Given the description of an element on the screen output the (x, y) to click on. 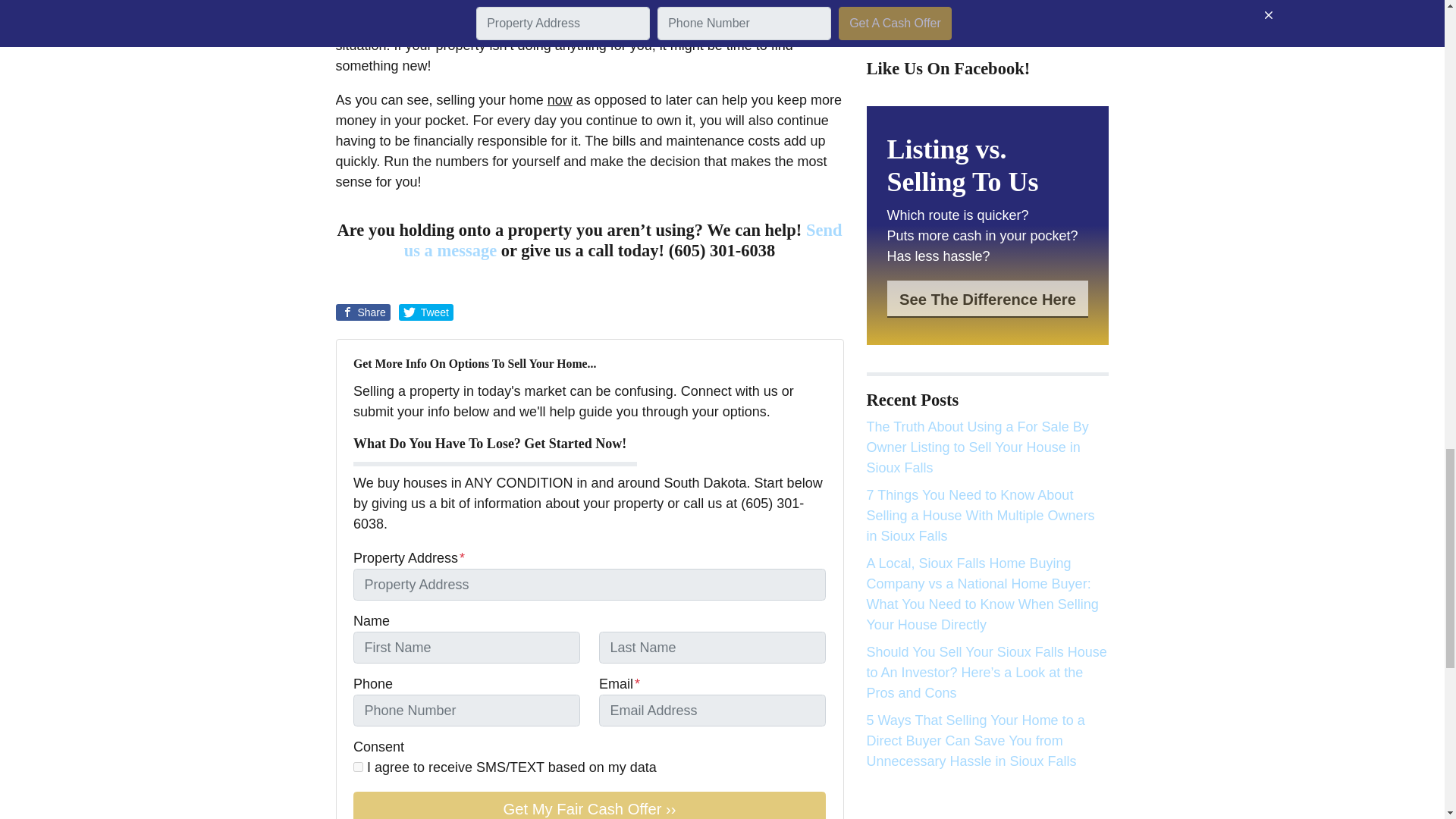
1 (357, 767)
Share on Facebook (362, 312)
Share on Twitter (425, 312)
